Given the description of an element on the screen output the (x, y) to click on. 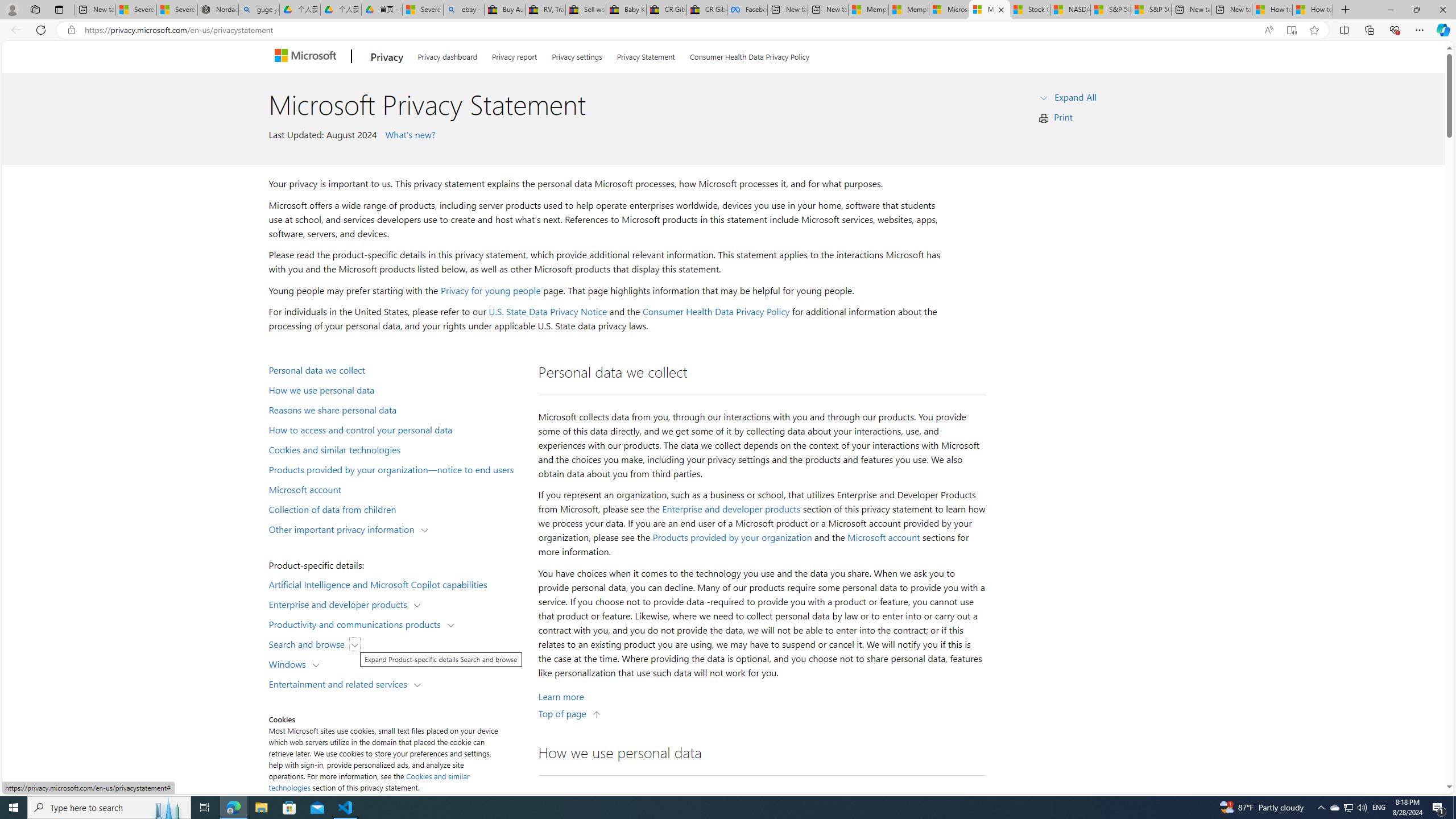
Consumer Health Data Privacy Policy (748, 54)
Privacy for young people (489, 290)
Privacy settings (576, 54)
